Given the description of an element on the screen output the (x, y) to click on. 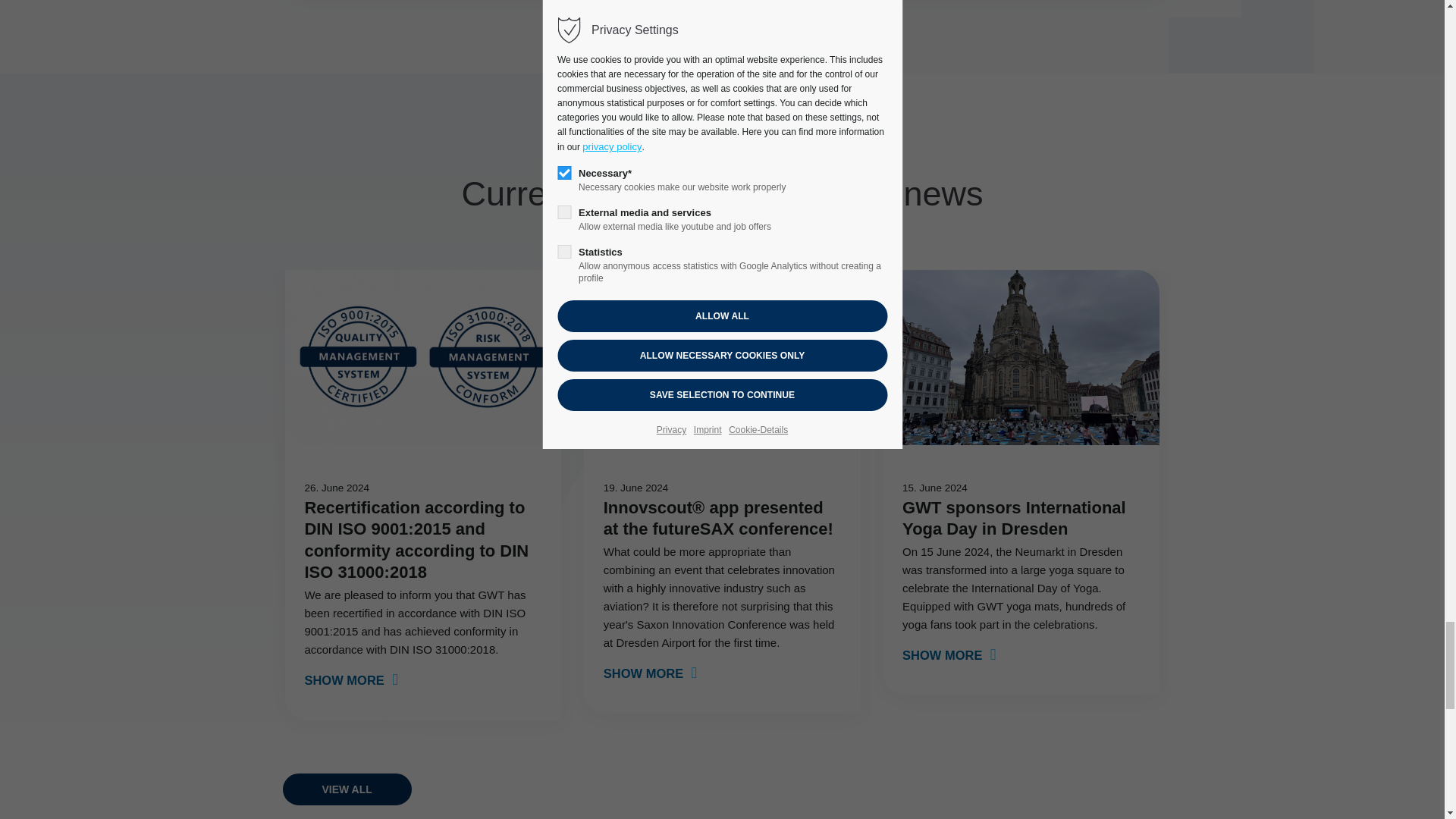
SHOW MORE (350, 680)
